Given the description of an element on the screen output the (x, y) to click on. 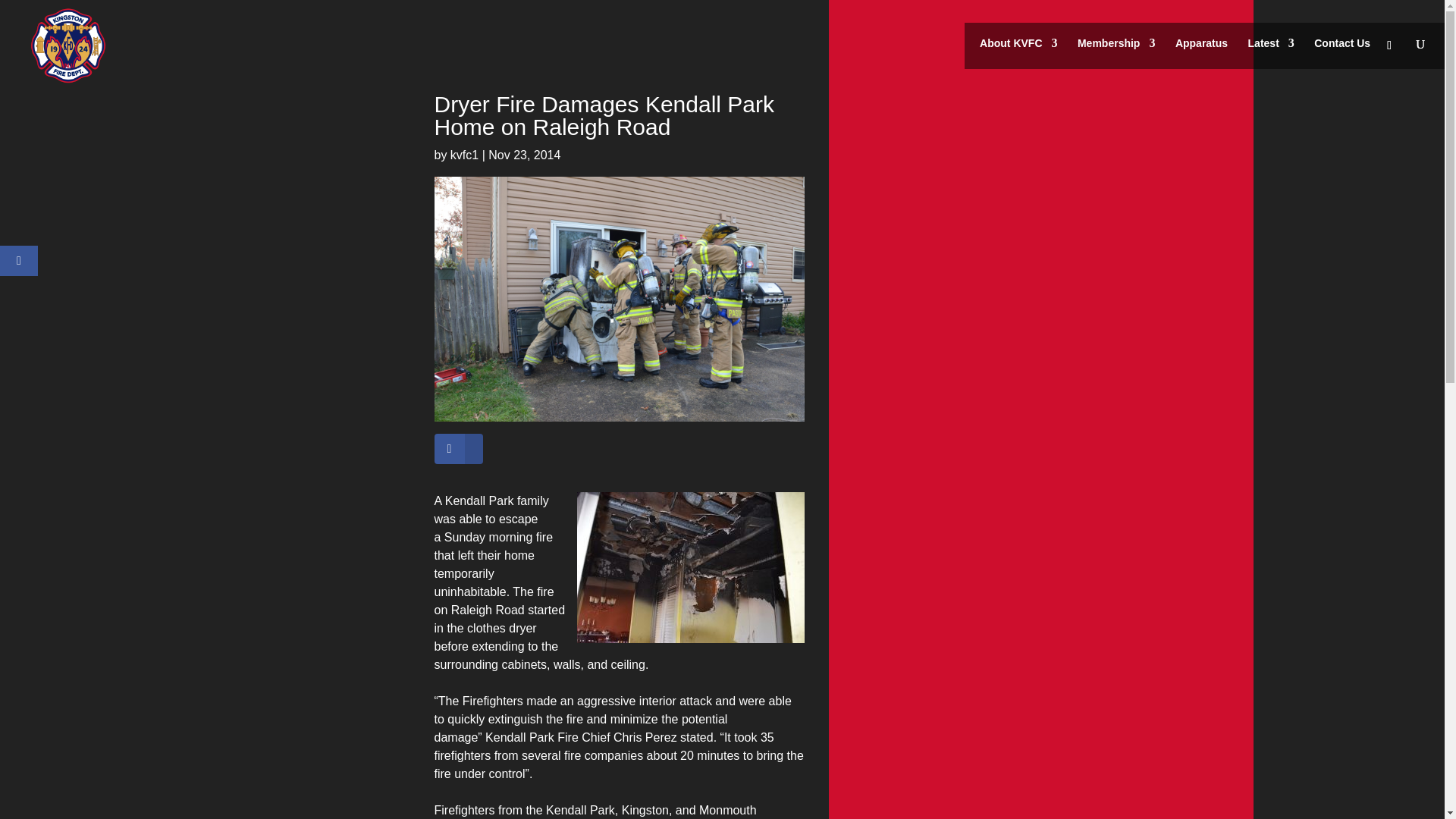
Apparatus (1200, 44)
Membership (1115, 44)
Posts by kvfc1 (464, 154)
kvfc1 (464, 154)
About KVFC (1018, 44)
Latest (1270, 44)
2014-11-23-Dryer-Fire (618, 298)
Contact Us (1342, 44)
